Given the description of an element on the screen output the (x, y) to click on. 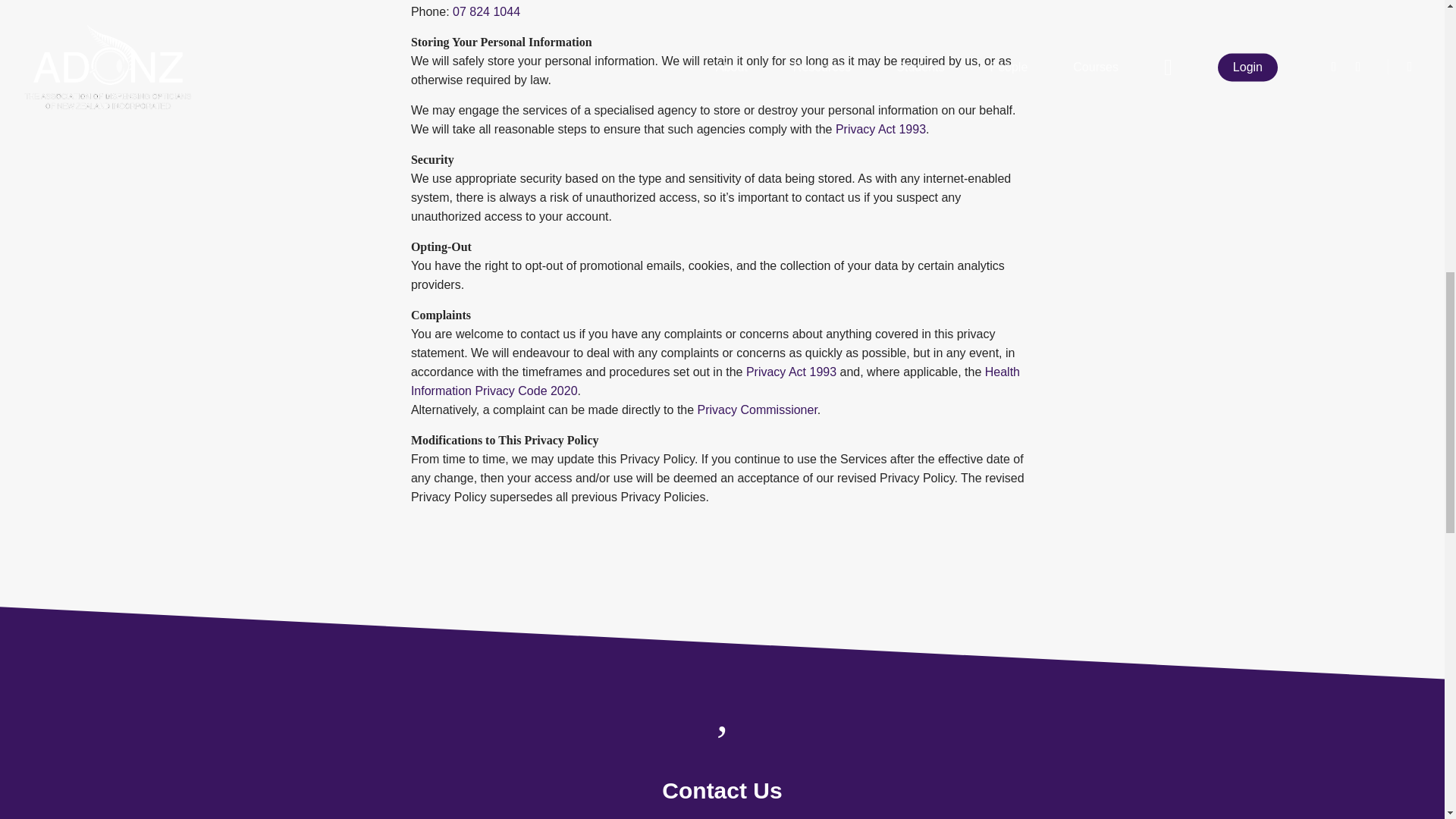
Health Information Privacy Code 2020 (715, 381)
07 824 1044 (485, 11)
Privacy Act 1993 (880, 128)
Privacy Commissioner (756, 409)
Privacy Act 1993 (790, 371)
